Given the description of an element on the screen output the (x, y) to click on. 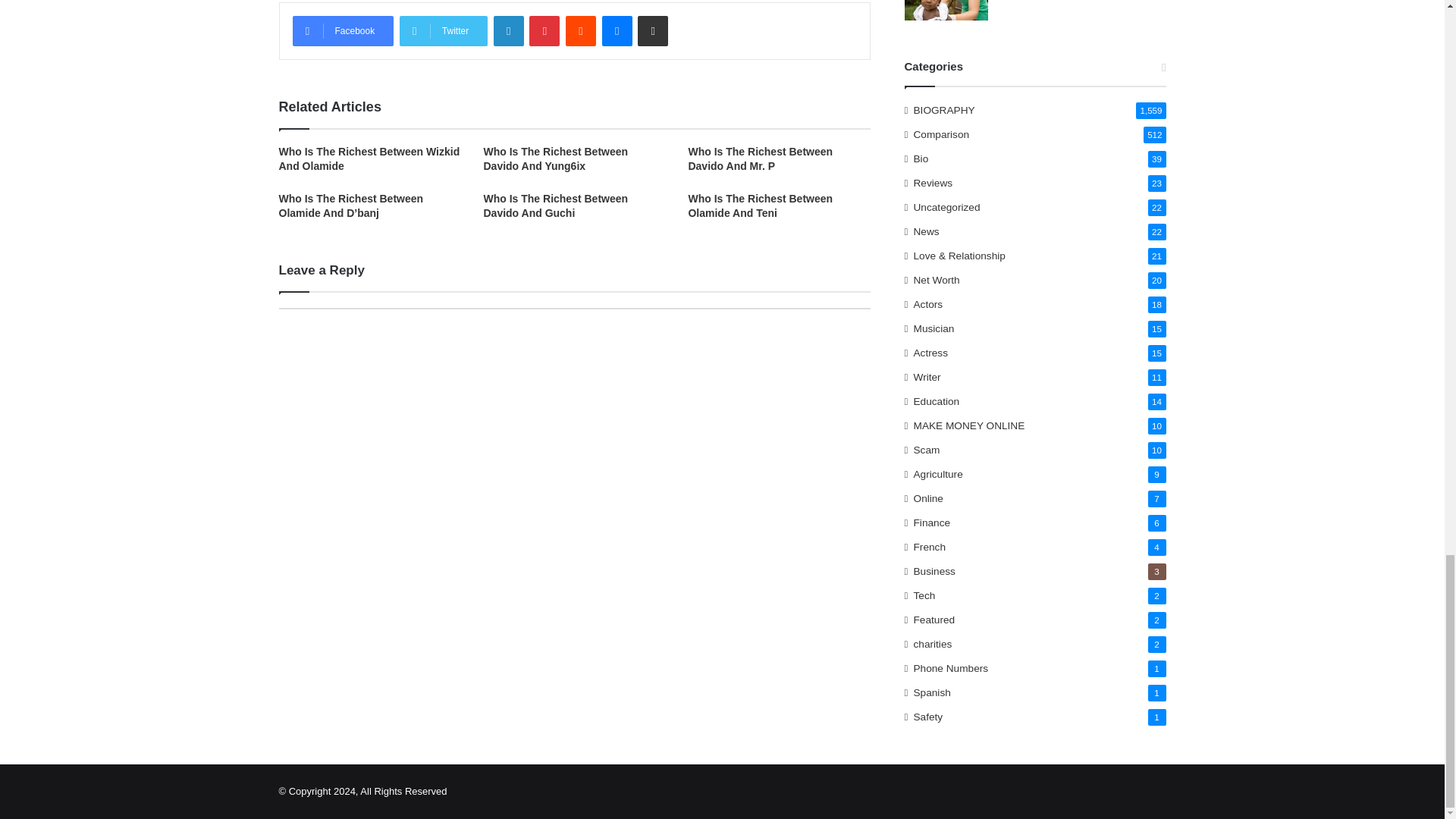
Who Is The Richest Between Davido And Guchi (555, 205)
LinkedIn (508, 30)
Twitter (442, 30)
Who Is The Richest Between Davido And Mr. P (759, 158)
Who Is The Richest Between Wizkid And Olamide (369, 158)
Who Is The Richest Between Davido And Yung6ix (555, 158)
Messenger (616, 30)
Share via Email (652, 30)
Twitter (442, 30)
Reddit (580, 30)
Messenger (616, 30)
Reddit (580, 30)
Facebook (343, 30)
LinkedIn (508, 30)
Pinterest (544, 30)
